Given the description of an element on the screen output the (x, y) to click on. 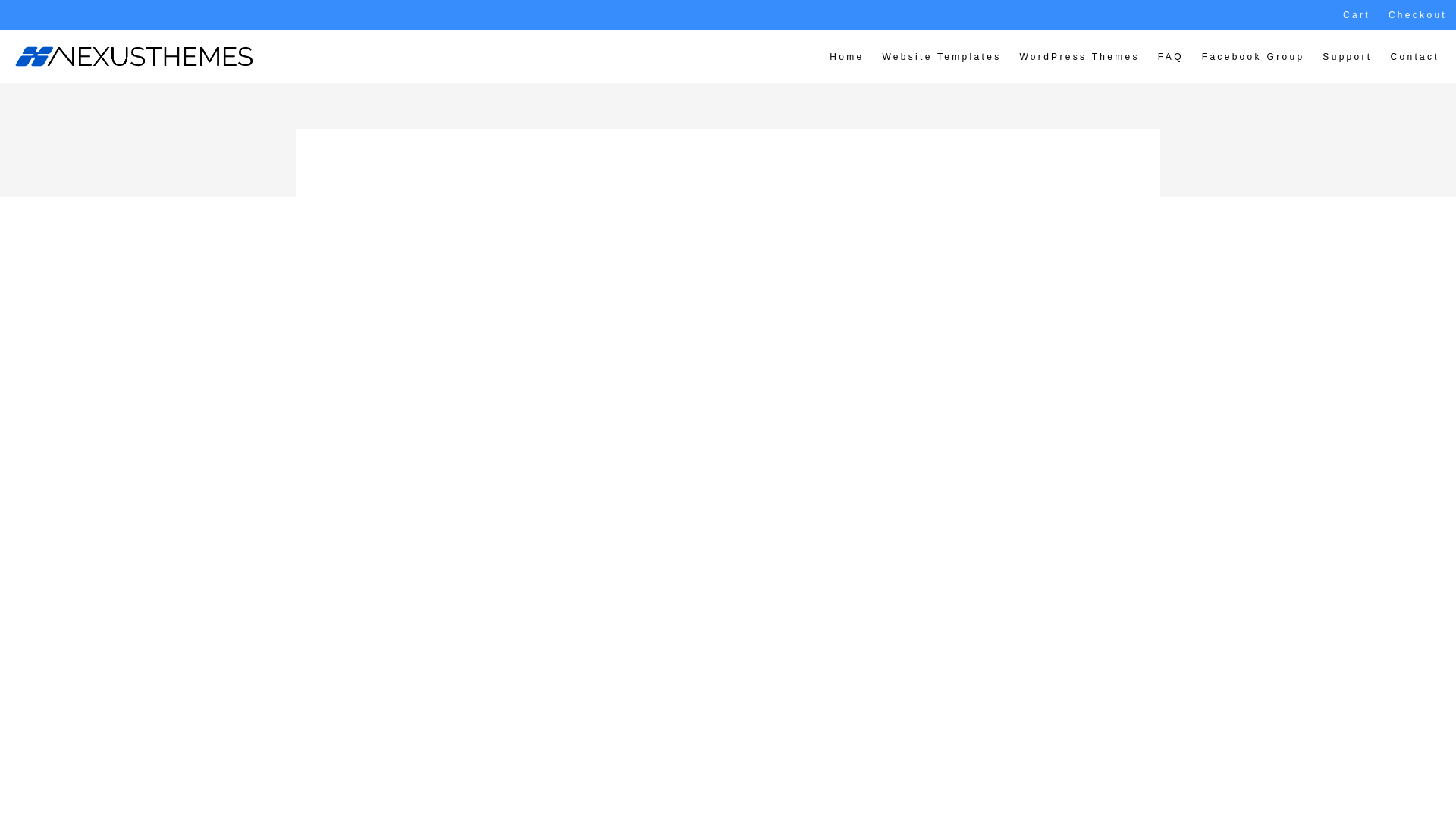
Home (846, 56)
Facebook Group (1253, 56)
Support (1346, 56)
Contact (1414, 56)
Cart (1355, 15)
FAQ (1170, 56)
WordPress Themes (1079, 56)
Website Templates (941, 56)
